Given the description of an element on the screen output the (x, y) to click on. 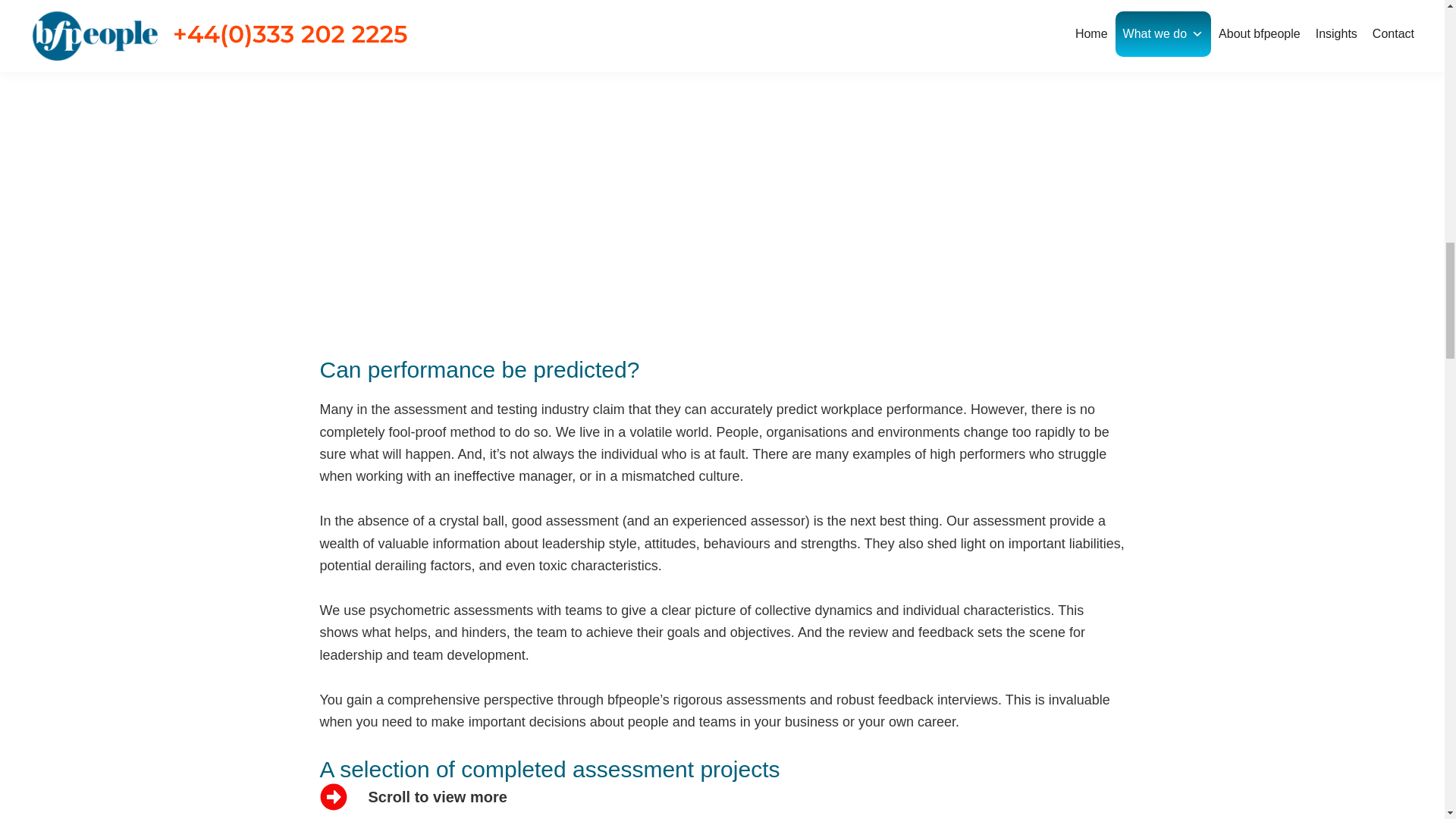
Learn more (236, 242)
Individual leadership assessment (236, 242)
Learn more (721, 246)
team profiling and assessment (721, 246)
The Leadership Judgement Indicator (1206, 220)
Learn more (1206, 220)
